Given the description of an element on the screen output the (x, y) to click on. 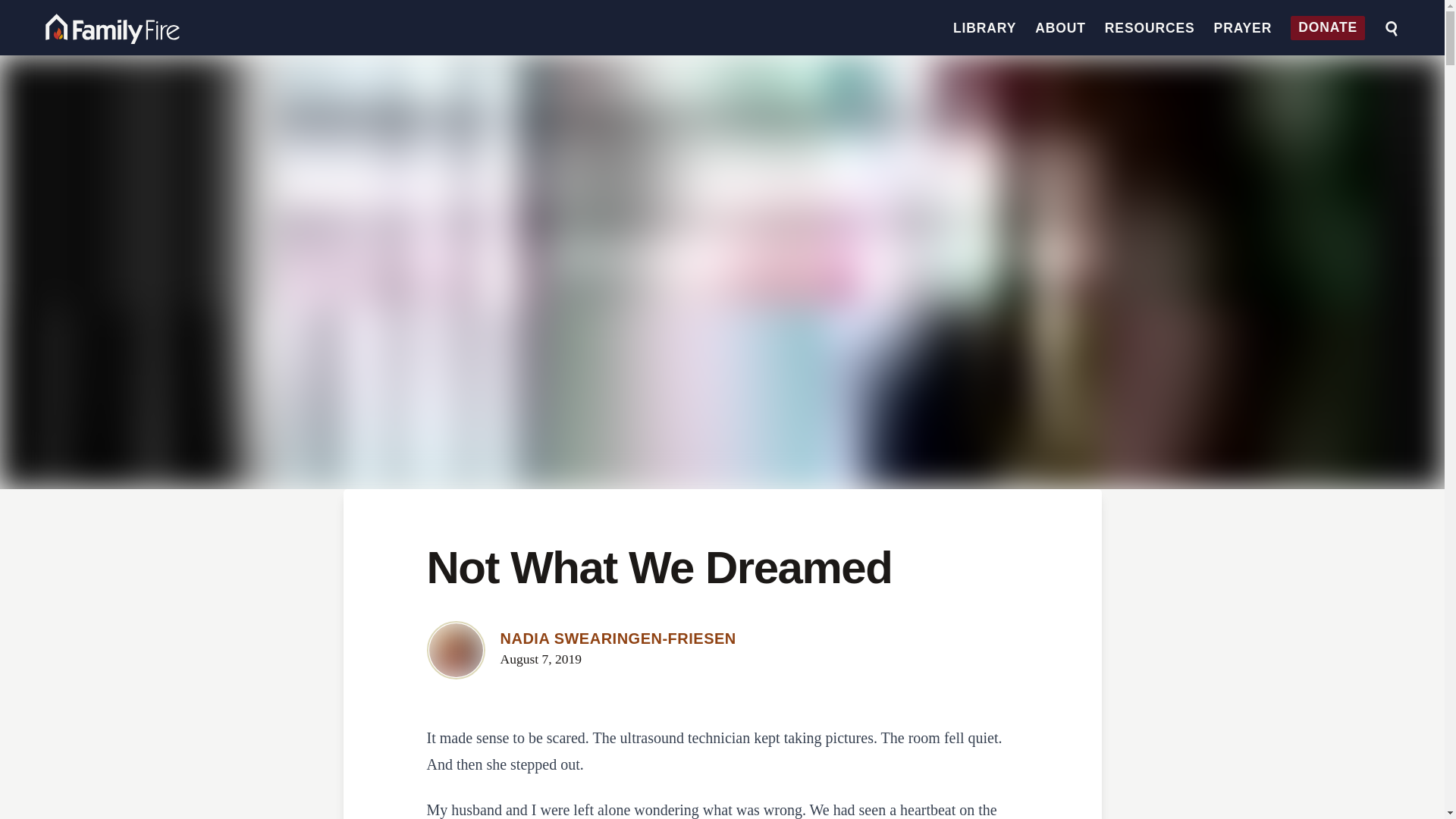
PRAYER (1243, 28)
Search (1391, 28)
ABOUT (1060, 28)
NADIA SWEARINGEN-FRIESEN (618, 638)
RESOURCES (1150, 28)
LIBRARY (984, 28)
DONATE (1327, 27)
